Given the description of an element on the screen output the (x, y) to click on. 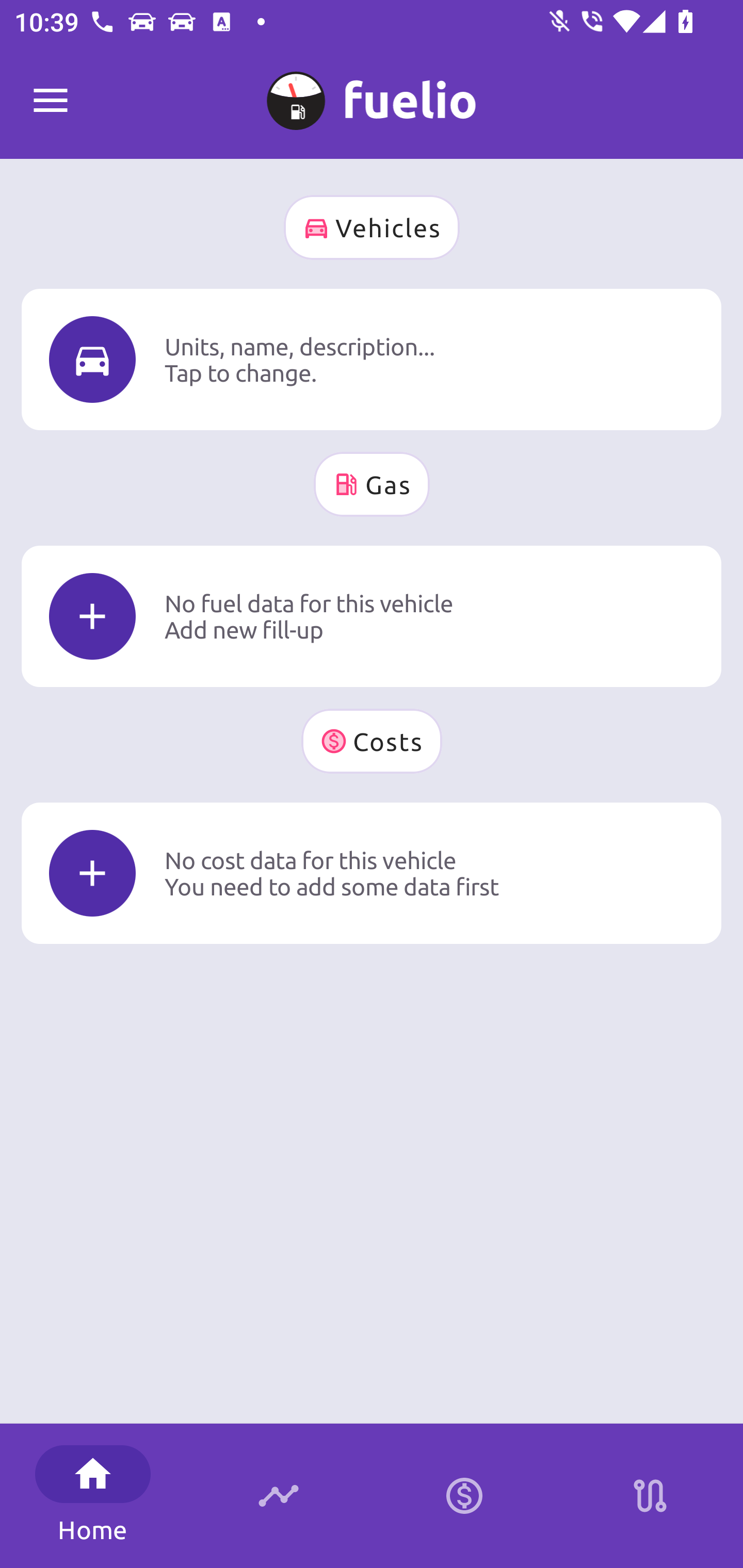
A No name 0 km (371, 92)
Fuelio (50, 101)
Vehicles (371, 227)
Icon Units, name, description...
Tap to change. (371, 358)
Icon (92, 359)
Gas (371, 484)
Icon No fuel data for this vehicle
Add new fill-up (371, 615)
Icon (92, 616)
Costs (371, 740)
Icon (92, 873)
Timeline (278, 1495)
Calculator (464, 1495)
Stations on route (650, 1495)
